Given the description of an element on the screen output the (x, y) to click on. 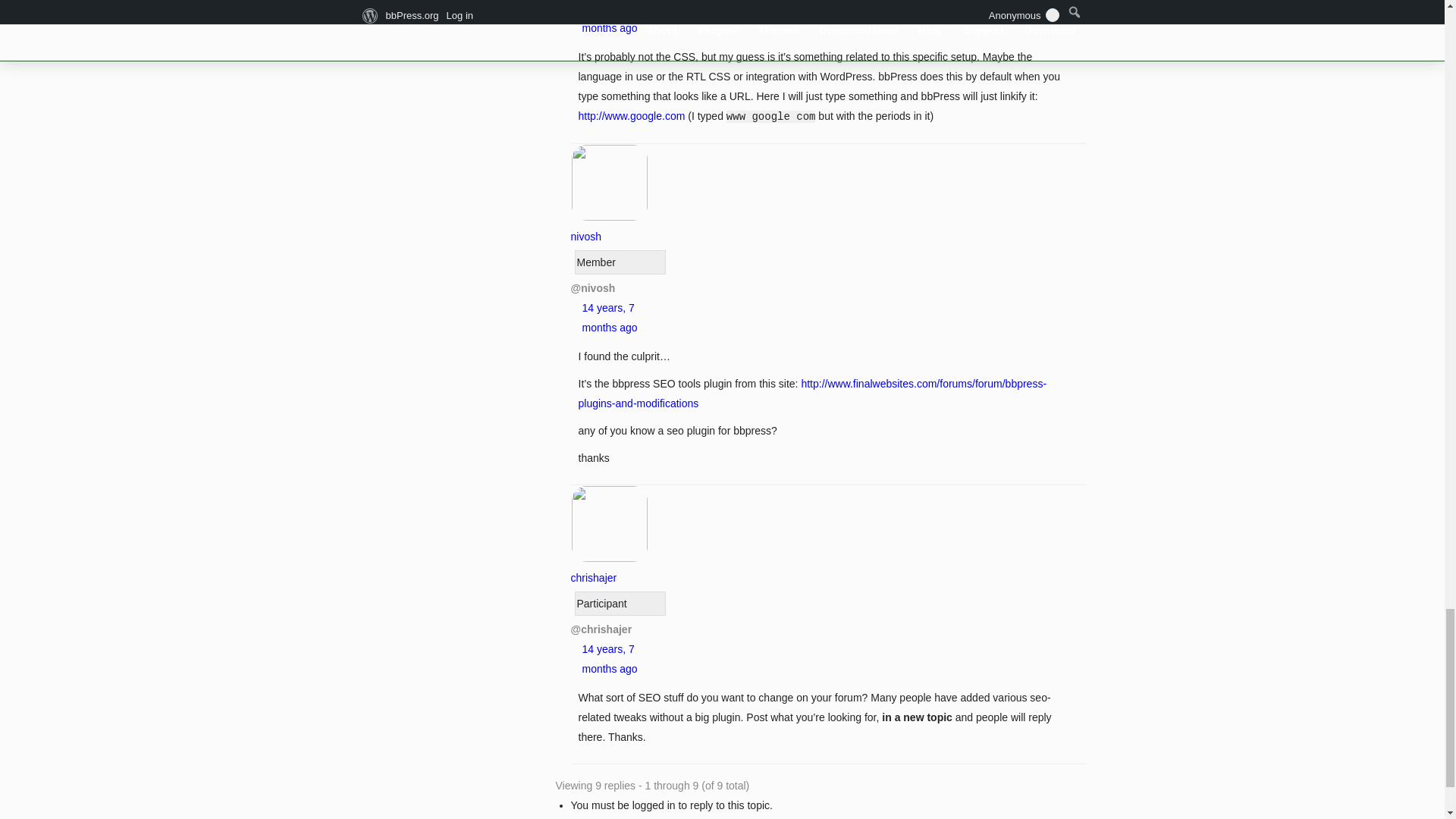
nivosh (608, 226)
14 years, 7 months ago (609, 18)
14 years, 7 months ago (609, 317)
